Given the description of an element on the screen output the (x, y) to click on. 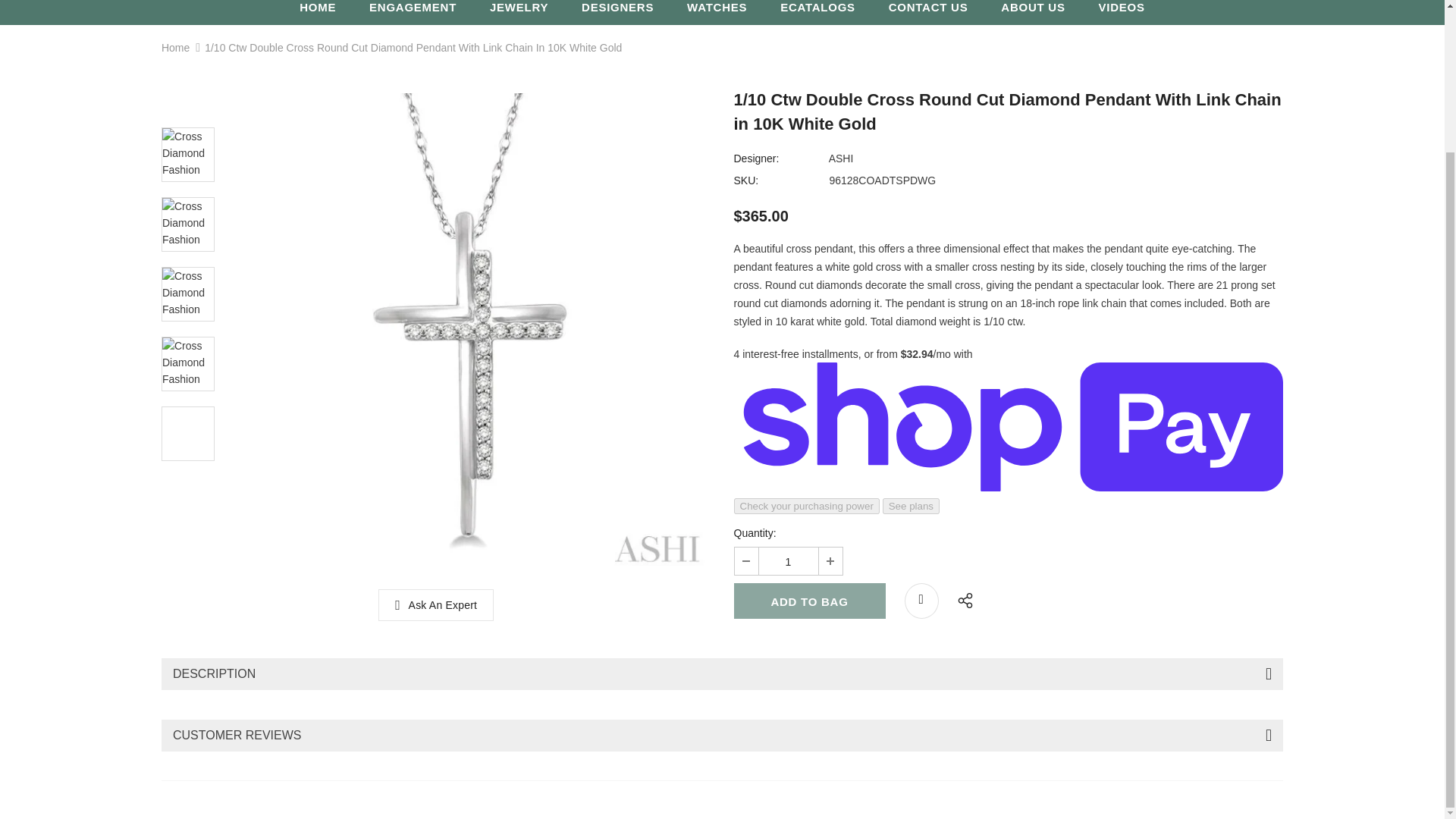
Add to Bag (809, 601)
1 (787, 560)
